Given the description of an element on the screen output the (x, y) to click on. 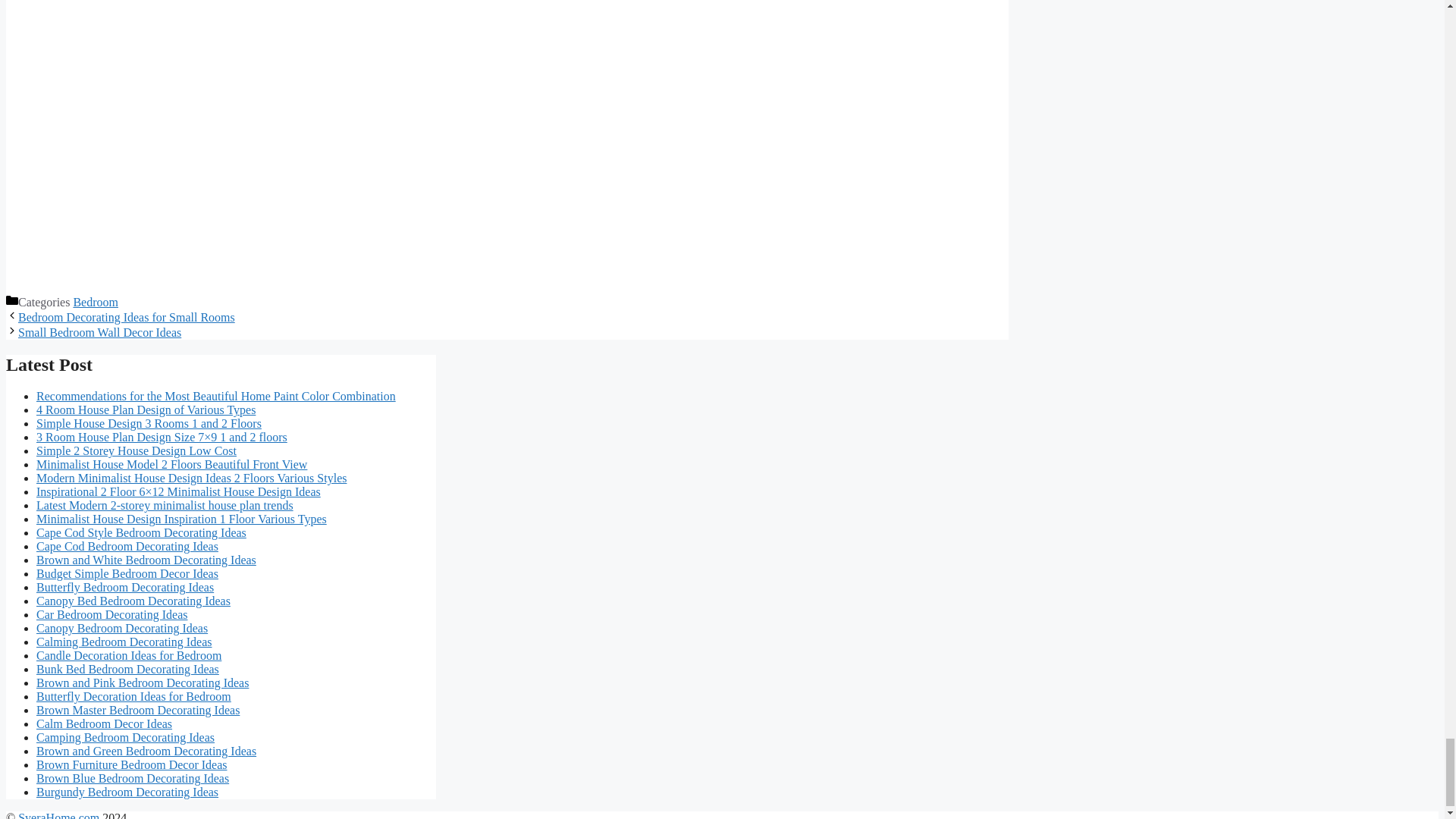
Bedroom Decorating Ideas for Small Rooms (125, 317)
4 Room House Plan Design of Various Types (146, 409)
Minimalist House Design Inspiration 1 Floor Various Types (181, 518)
Minimalist House Model 2 Floors Beautiful Front View (171, 463)
Bedroom (94, 301)
Simple House Design 3 Rooms 1 and 2 Floors (149, 422)
Small Bedroom Wall Decor Ideas (98, 332)
Latest Modern 2-storey minimalist house plan trends (165, 504)
Simple 2 Storey House Design Low Cost (135, 450)
Cape Cod Bedroom Decorating Ideas (127, 545)
Modern Minimalist House Design Ideas 2 Floors Various Styles (191, 477)
Cape Cod Style Bedroom Decorating Ideas (141, 532)
